Given the description of an element on the screen output the (x, y) to click on. 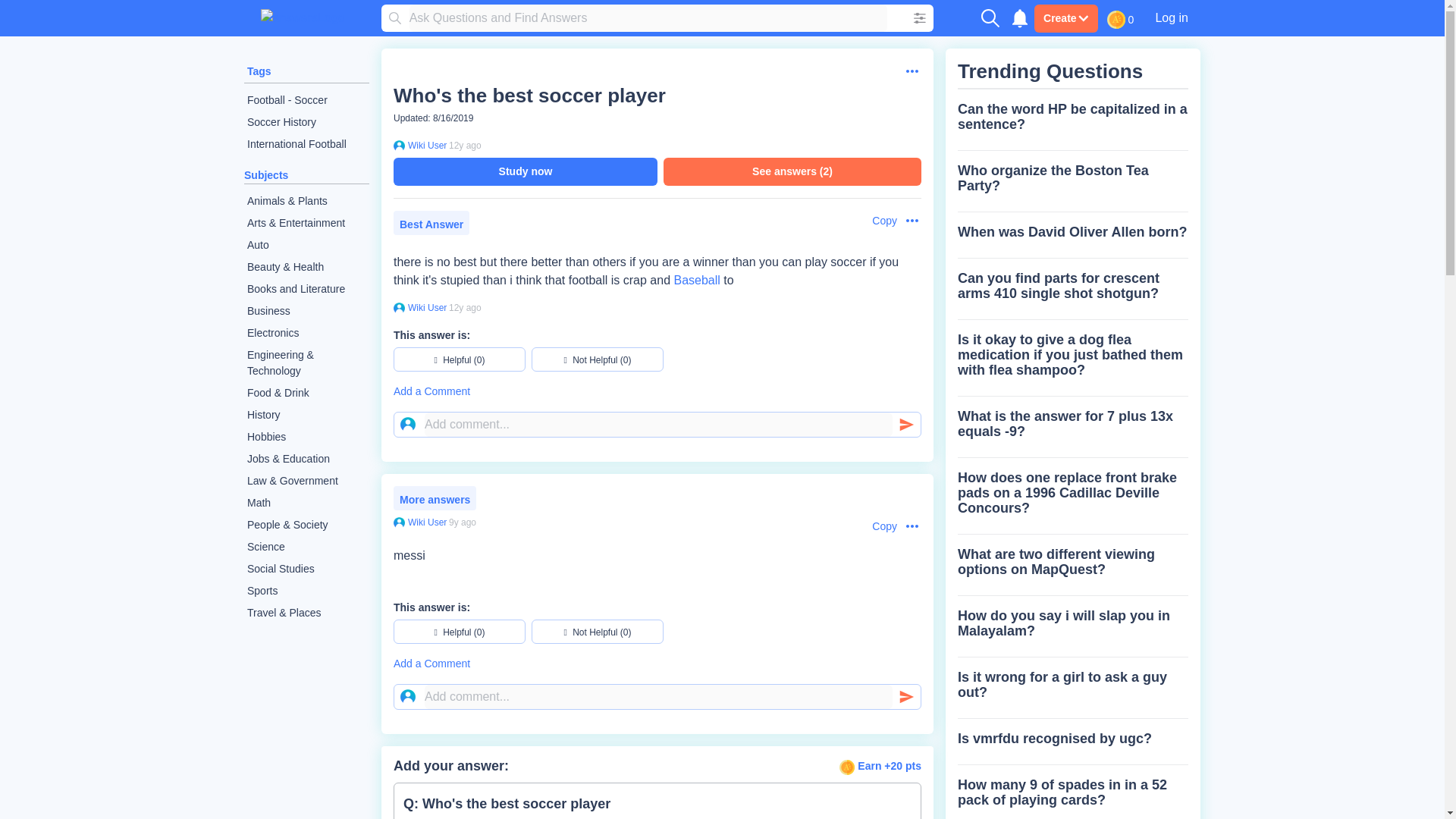
Sports (306, 590)
Who's the best soccer player (529, 95)
Copy (876, 220)
Science (306, 546)
Subjects (266, 174)
Auto (306, 245)
International Football (306, 144)
Soccer History (306, 122)
Math (306, 503)
History (306, 414)
Social Studies (306, 568)
Electronics (306, 332)
Create (1065, 18)
Books and Literature (306, 289)
Hobbies (306, 436)
